Given the description of an element on the screen output the (x, y) to click on. 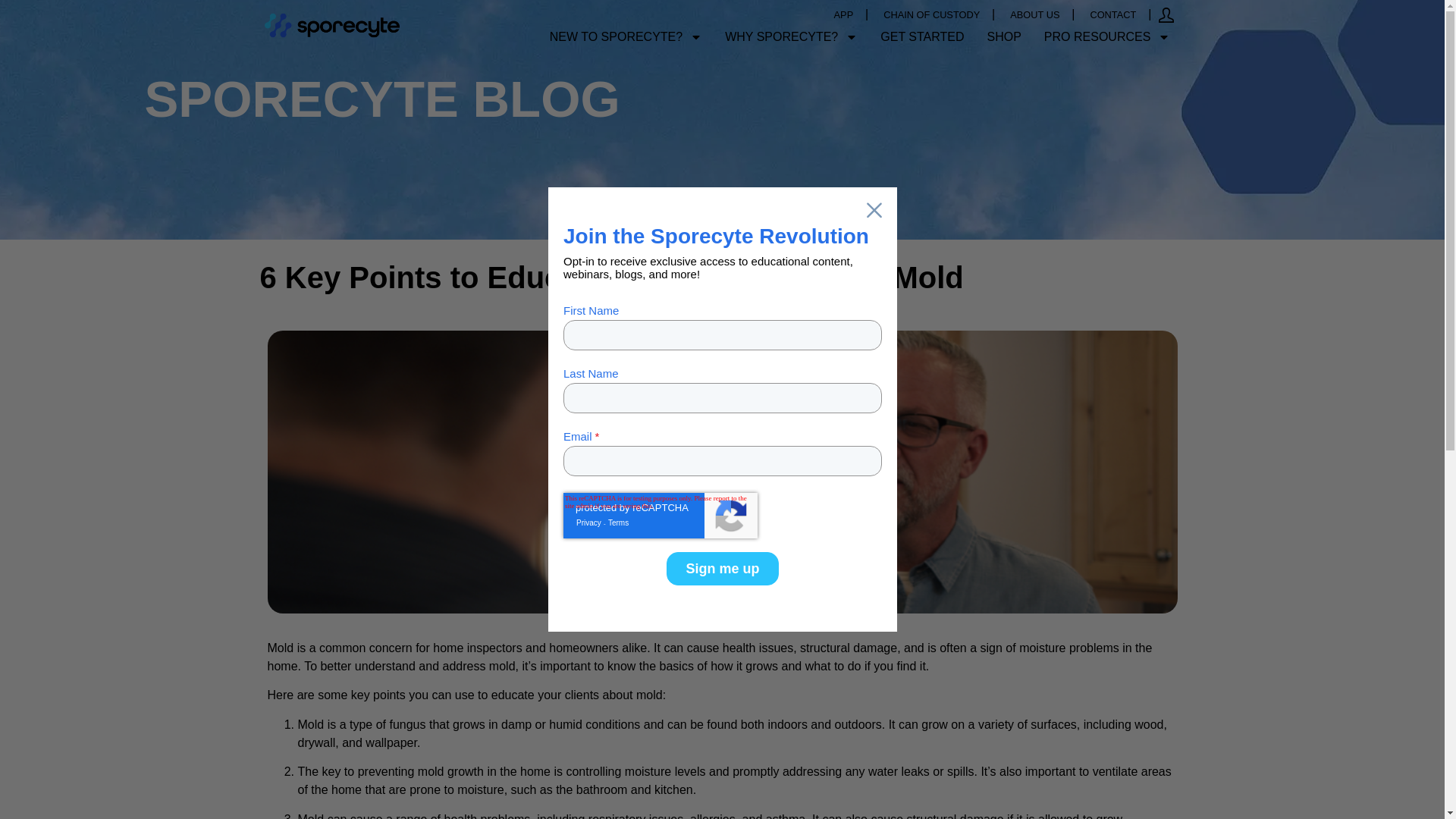
ABOUT US (1034, 14)
APP (843, 14)
NEW TO SPORECYTE? (625, 37)
CHAIN OF CUSTODY (930, 14)
PRO RESOURCES (1106, 37)
WHY SPORECYTE? (791, 37)
CONTACT (1112, 14)
GET STARTED (922, 37)
SHOP (1003, 37)
